Given the description of an element on the screen output the (x, y) to click on. 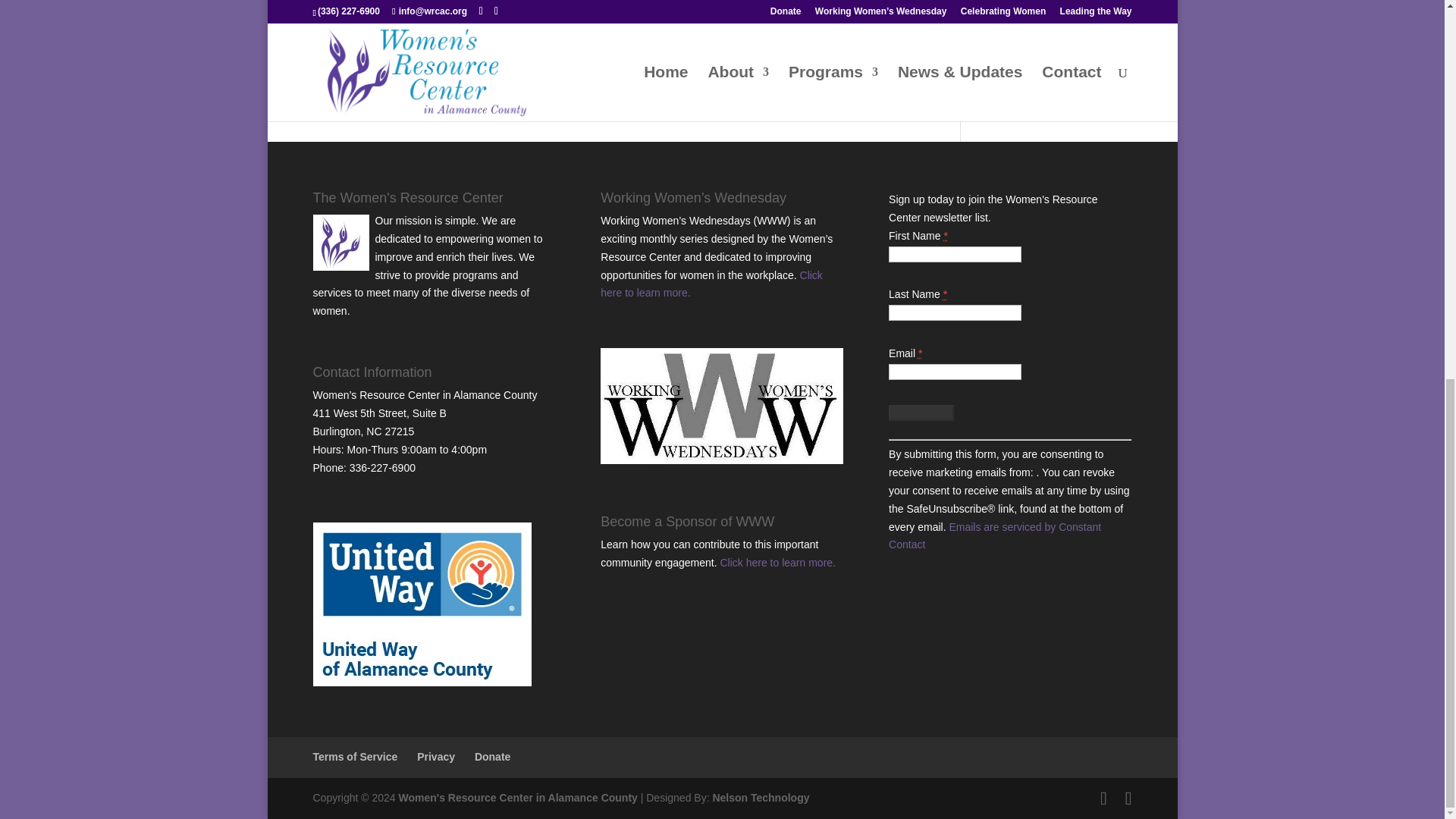
Sign Me Up (920, 412)
